Given the description of an element on the screen output the (x, y) to click on. 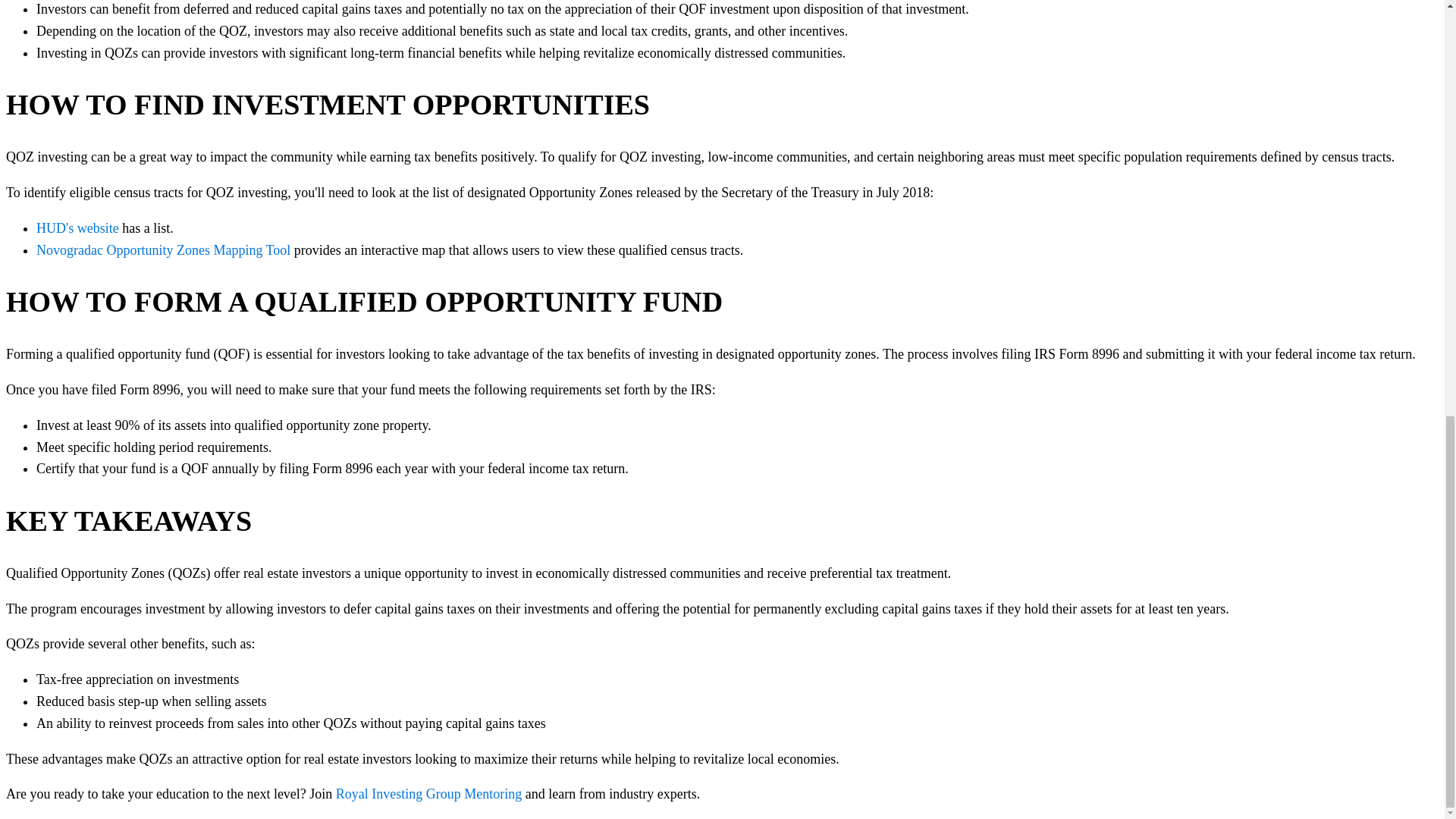
Novogradac Opportunity Zones Mapping Tool (162, 249)
HUD's website (77, 227)
Royal Investing Group Mentoring (428, 793)
